Given the description of an element on the screen output the (x, y) to click on. 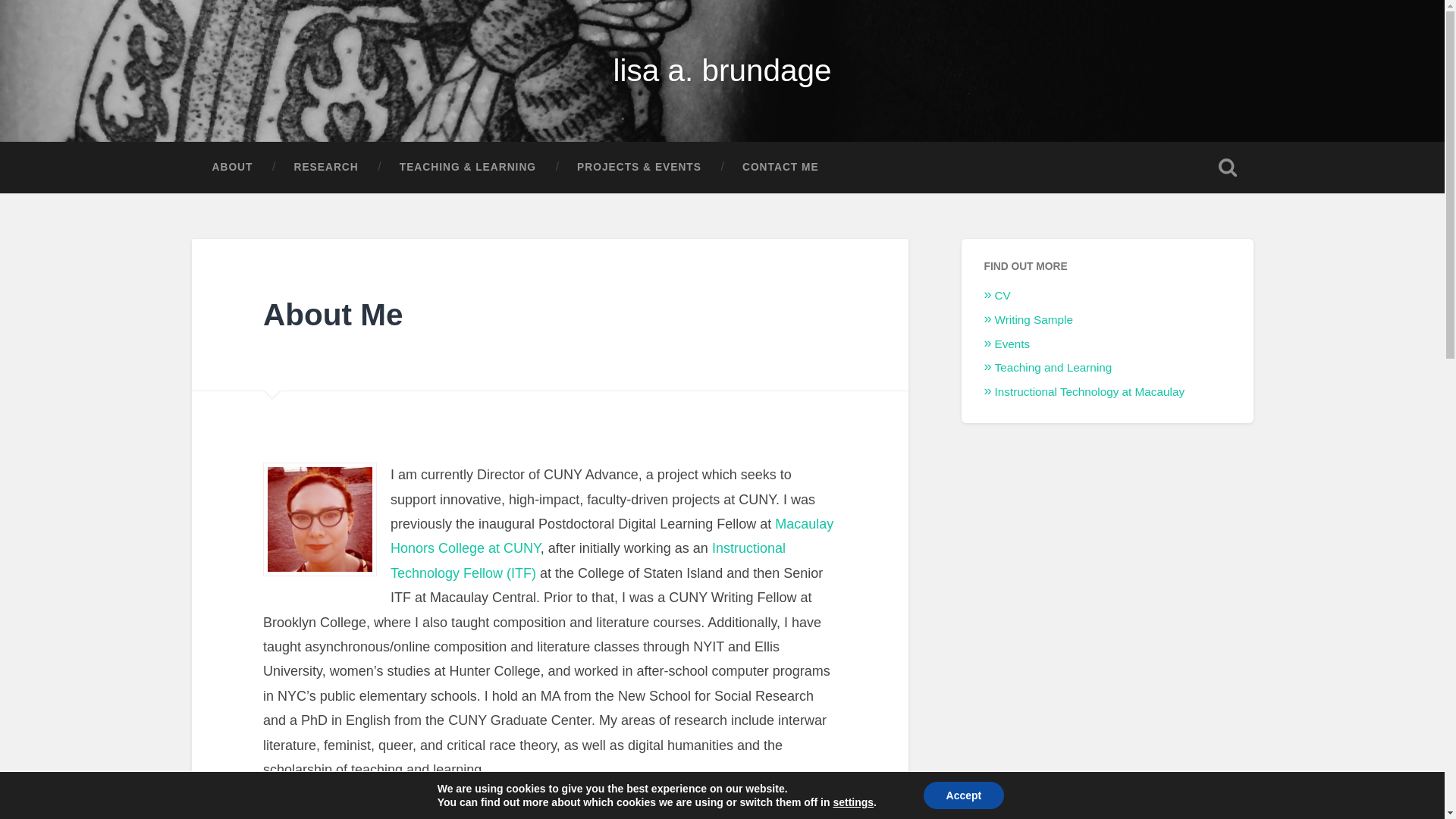
CV (1002, 295)
About Me (333, 314)
lisa a. brundage (721, 70)
Teaching and Learning (1053, 367)
Writing Sample (1033, 318)
Instructional Technology at Macaulay (1089, 391)
RESEARCH (325, 167)
Accept (963, 795)
Macaulay Honors College at CUNY (611, 536)
CONTACT ME (781, 167)
Events (1012, 343)
settings (852, 802)
ABOUT (231, 167)
linkedprofile (320, 519)
